Given the description of an element on the screen output the (x, y) to click on. 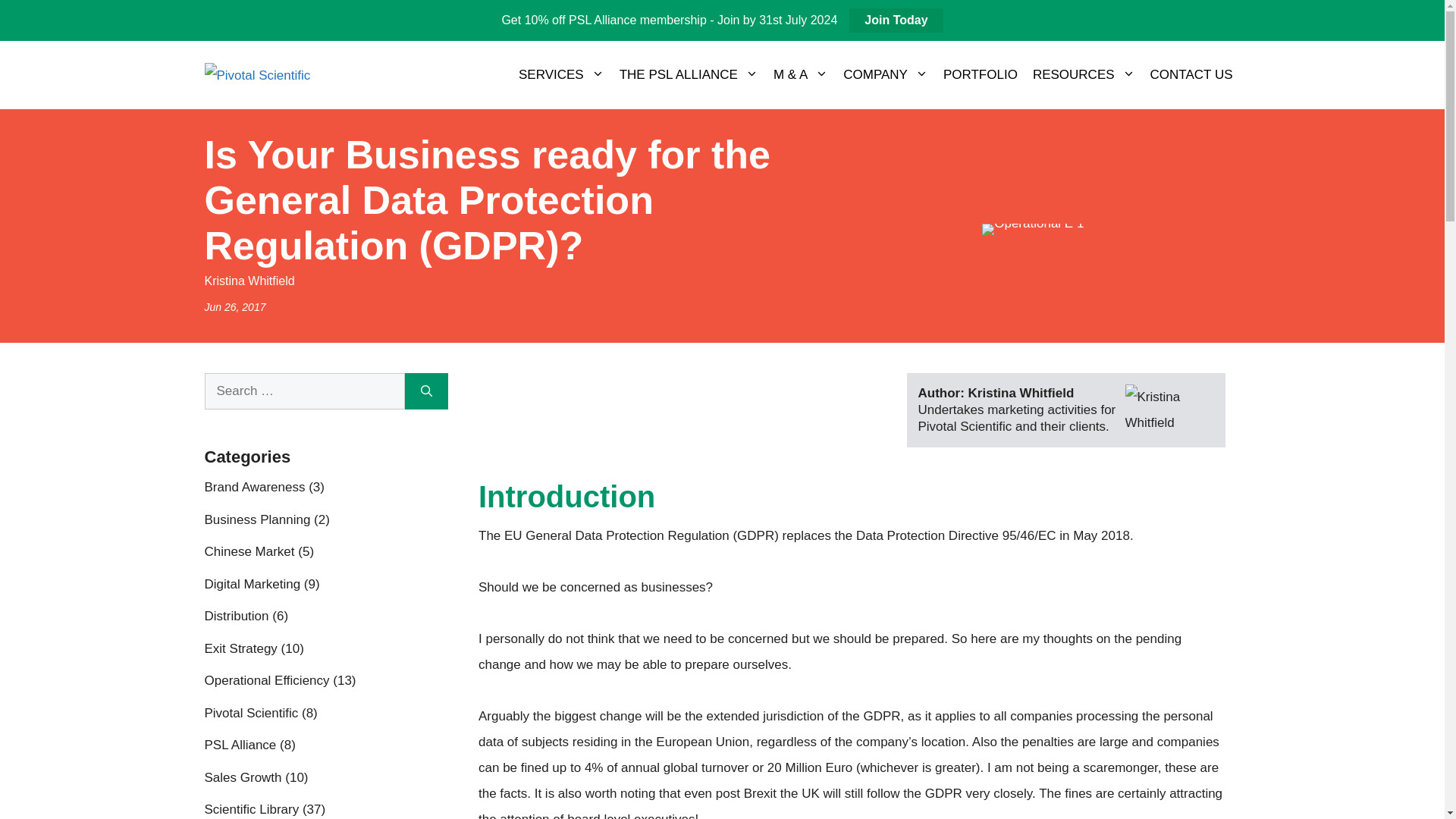
THE PSL ALLIANCE (688, 74)
Search for: (305, 391)
Join Today (895, 20)
RESOURCES (1083, 74)
Operational E 1 (1032, 229)
PORTFOLIO (980, 74)
SERVICES (561, 74)
COMPANY (885, 74)
